Given the description of an element on the screen output the (x, y) to click on. 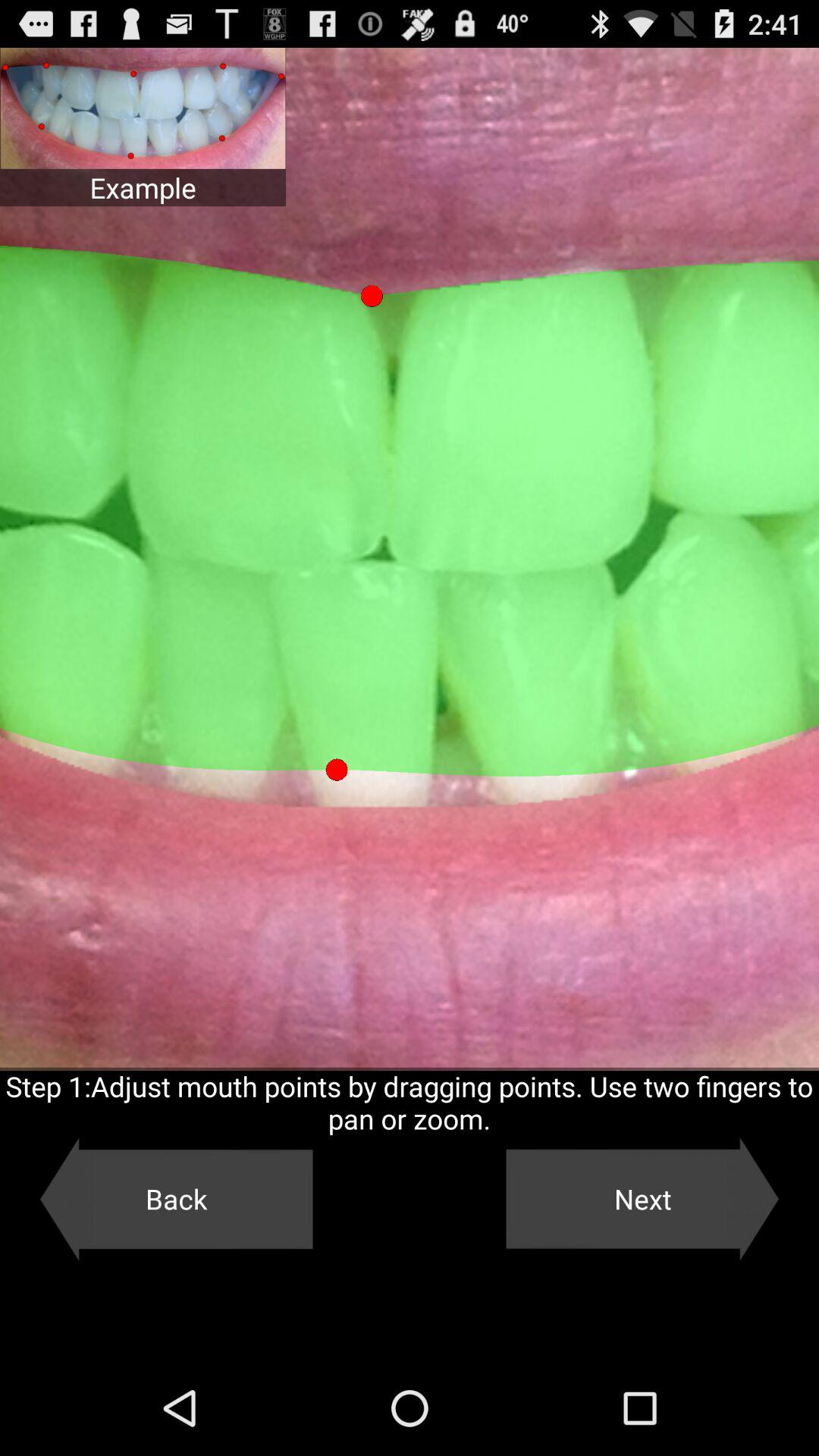
turn off button to the right of the back (642, 1198)
